Given the description of an element on the screen output the (x, y) to click on. 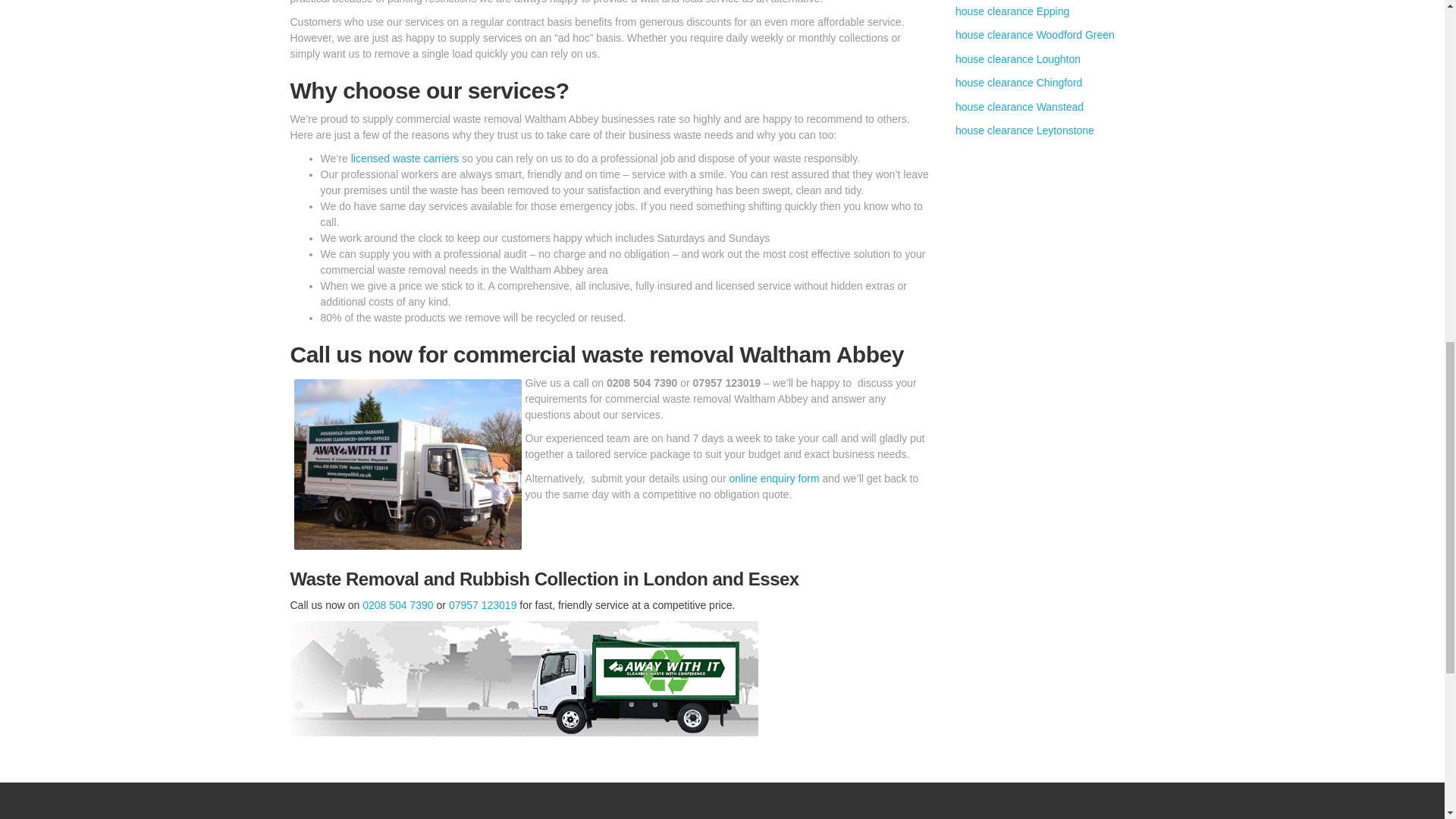
Commercial Waste Removal in Waltham Abbey EN9 (407, 464)
